Given the description of an element on the screen output the (x, y) to click on. 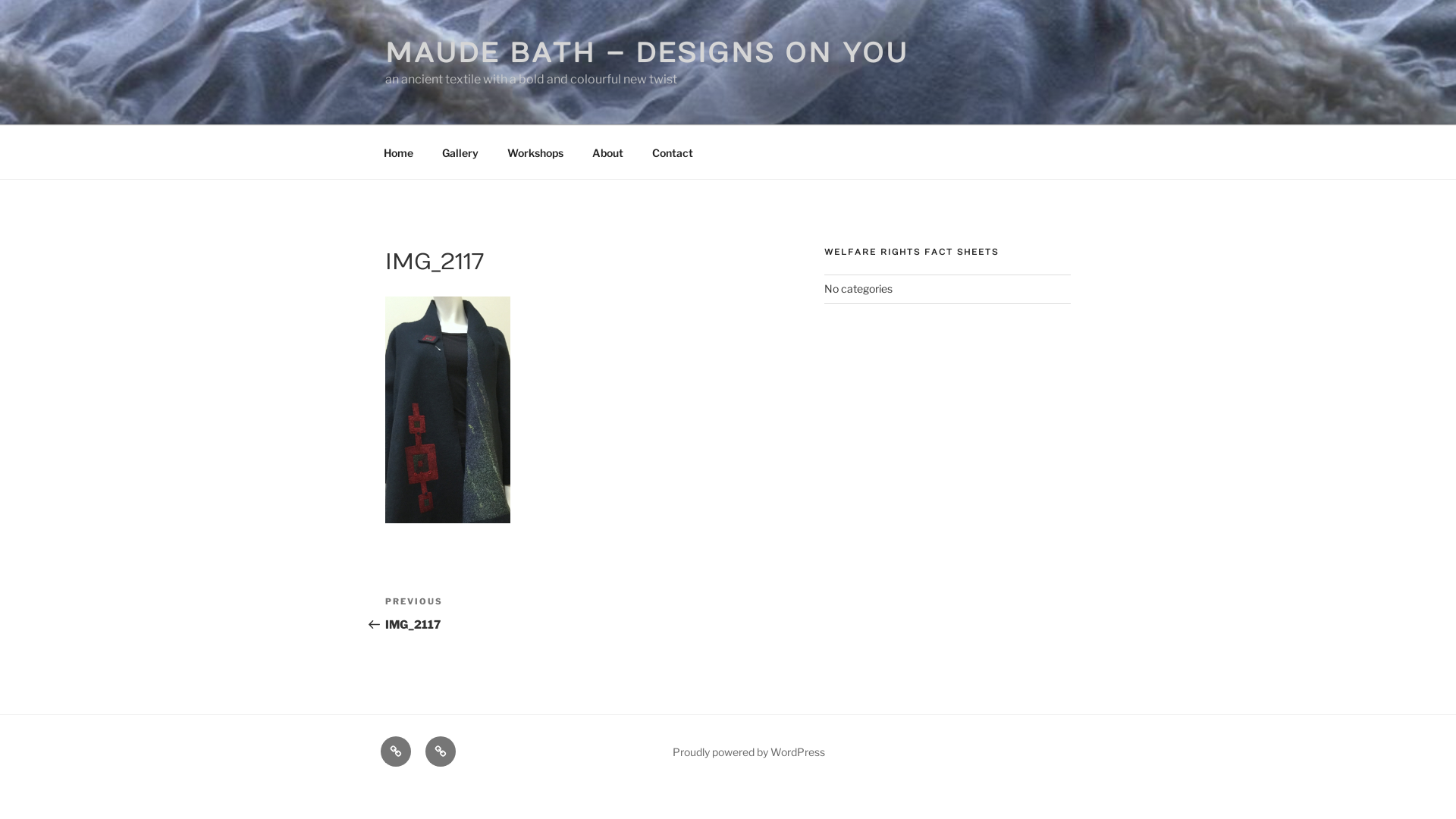
Home Element type: text (398, 151)
About Element type: text (607, 151)
Gallery Element type: text (459, 151)
Contact Element type: text (672, 151)
Pieced and striped Element type: text (440, 751)
Workshops Element type: text (534, 151)
Notan and pre-felt cutouts Element type: text (395, 751)
Proudly powered by WordPress Element type: text (748, 751)
Previous Post
PREVIOUS
IMG_2117 Element type: text (484, 613)
